Given the description of an element on the screen output the (x, y) to click on. 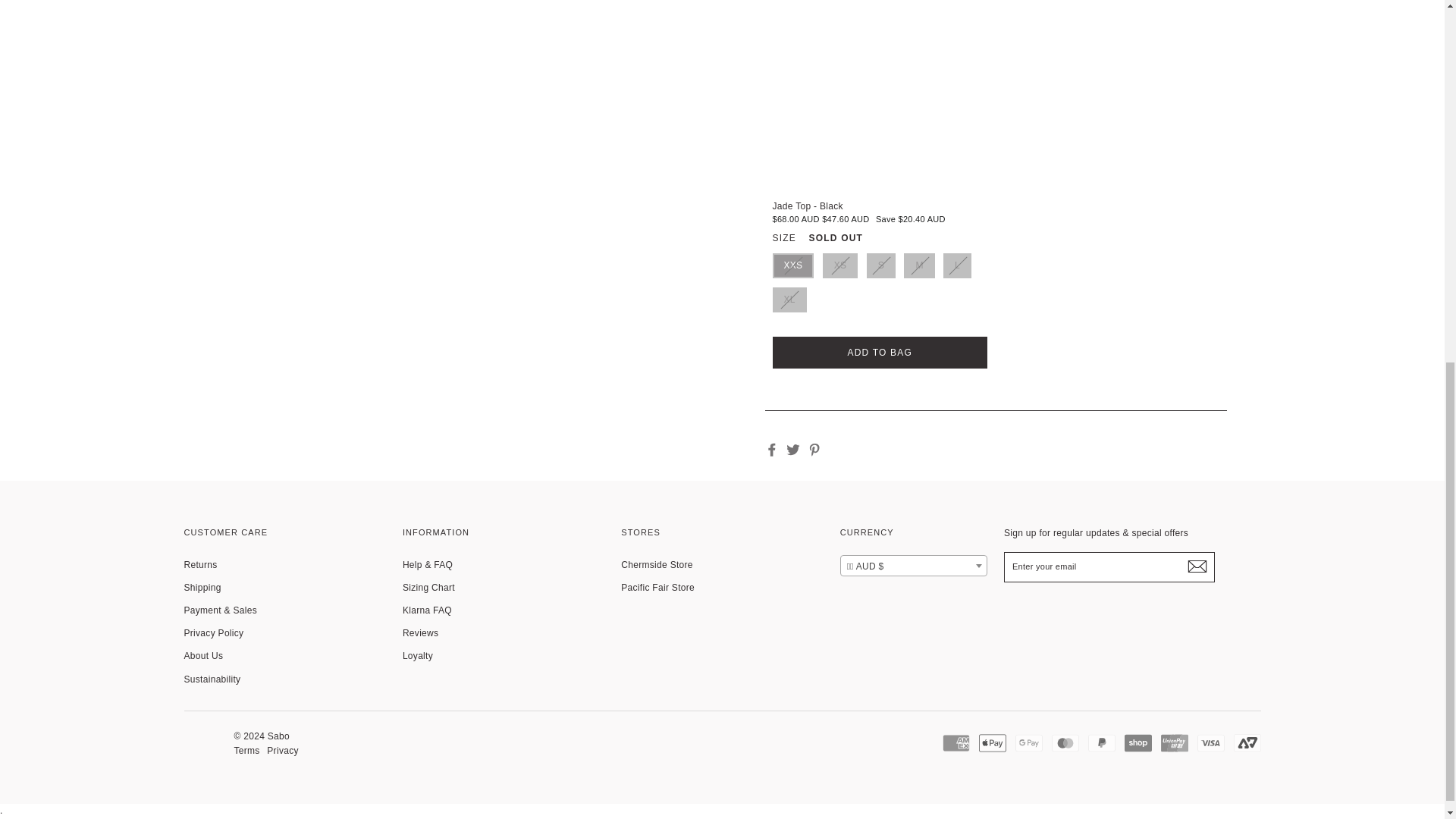
Union Pay (1174, 742)
Apple Pay (992, 742)
Google Pay (1028, 742)
Tweet on Twitter (792, 449)
Visa (1210, 742)
Mastercard (1064, 742)
PayPal (1101, 742)
